Given the description of an element on the screen output the (x, y) to click on. 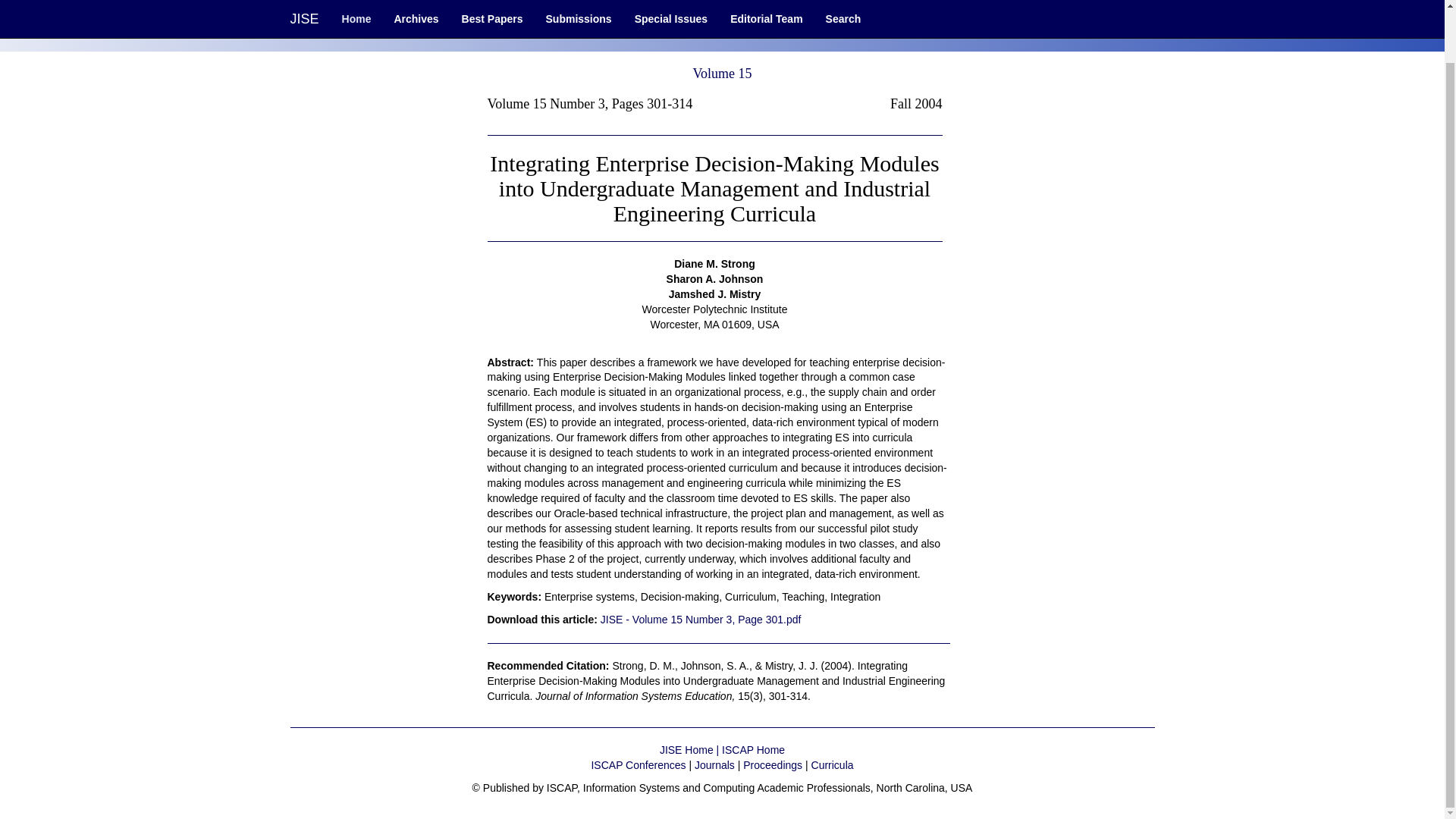
JISE - Volume 15 Number 3, Page 301.pdf (700, 619)
Journals (714, 765)
Curricula (831, 765)
ISCAP Conferences (638, 765)
Volume 15 (722, 73)
ISCAP Home (753, 749)
Proceedings (772, 765)
